Given the description of an element on the screen output the (x, y) to click on. 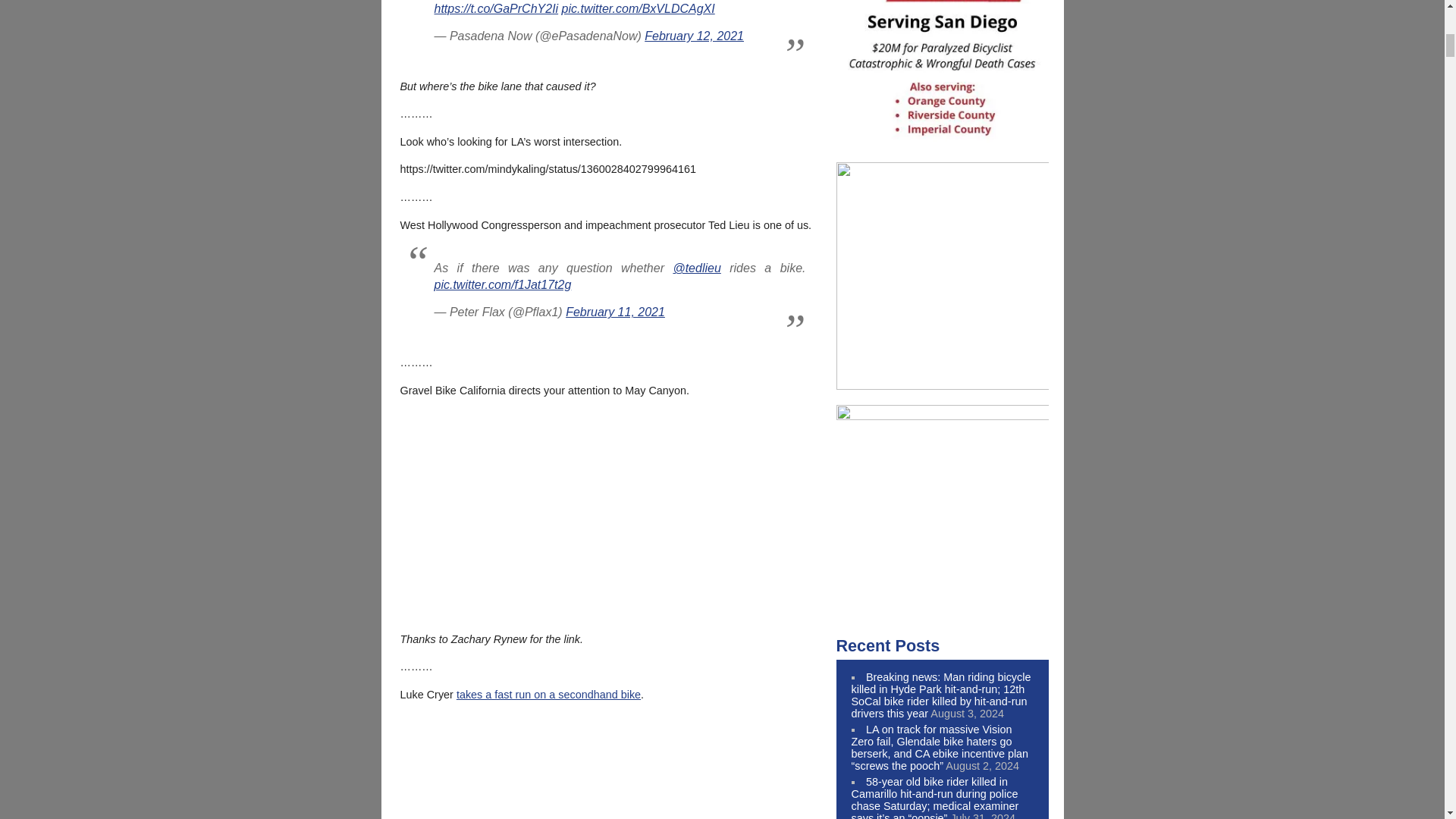
takes a fast run on a secondhand bike (548, 694)
February 12, 2021 (694, 35)
February 11, 2021 (615, 311)
